Given the description of an element on the screen output the (x, y) to click on. 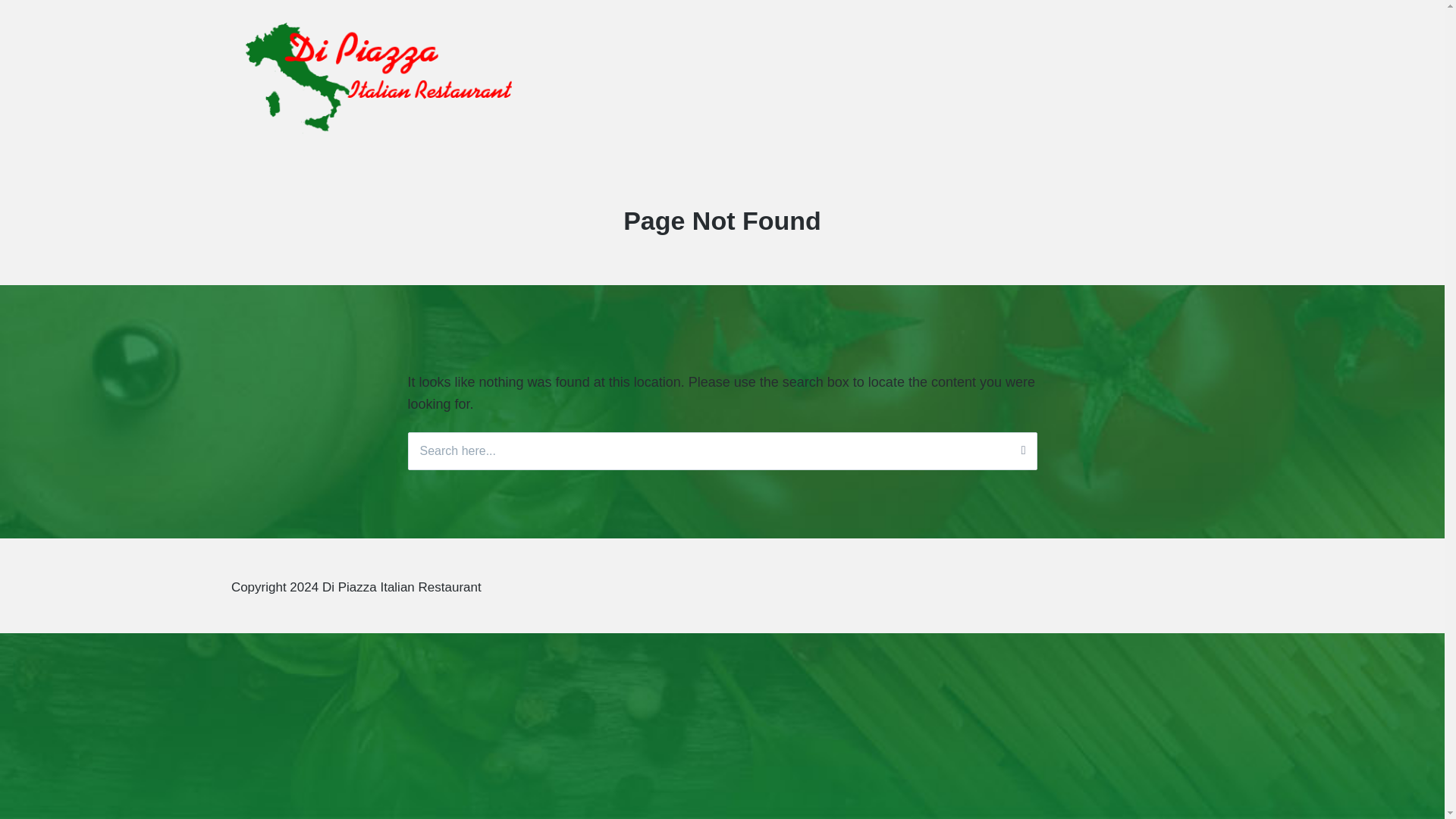
Di Piazza Italian Restaurant (359, 150)
